Given the description of an element on the screen output the (x, y) to click on. 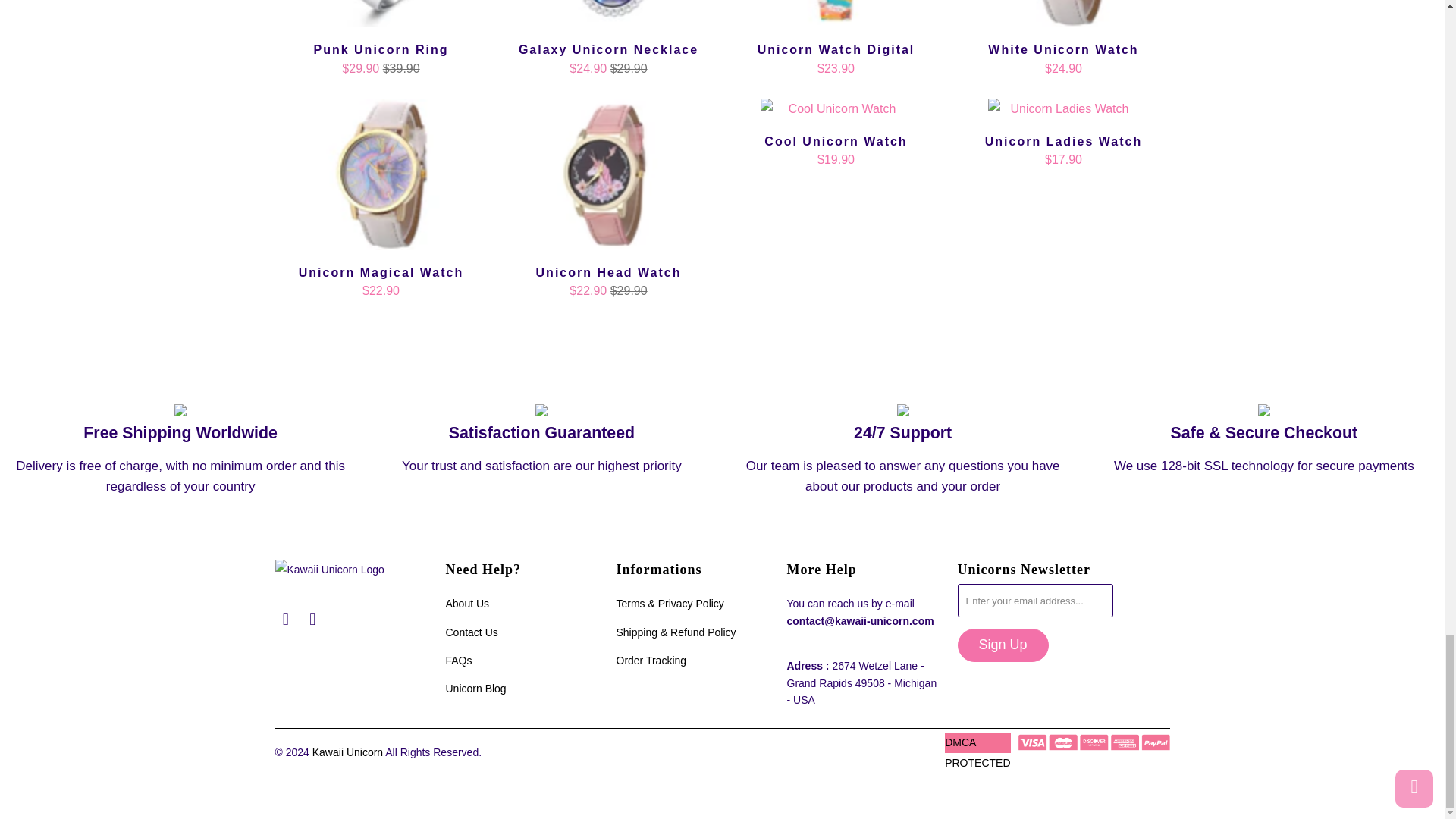
Sign Up (1002, 644)
Kawaii Unicorn on Instagram (312, 619)
DMCA (959, 742)
Kawaii Unicorn on Pinterest (286, 619)
DMCA (977, 762)
